Given the description of an element on the screen output the (x, y) to click on. 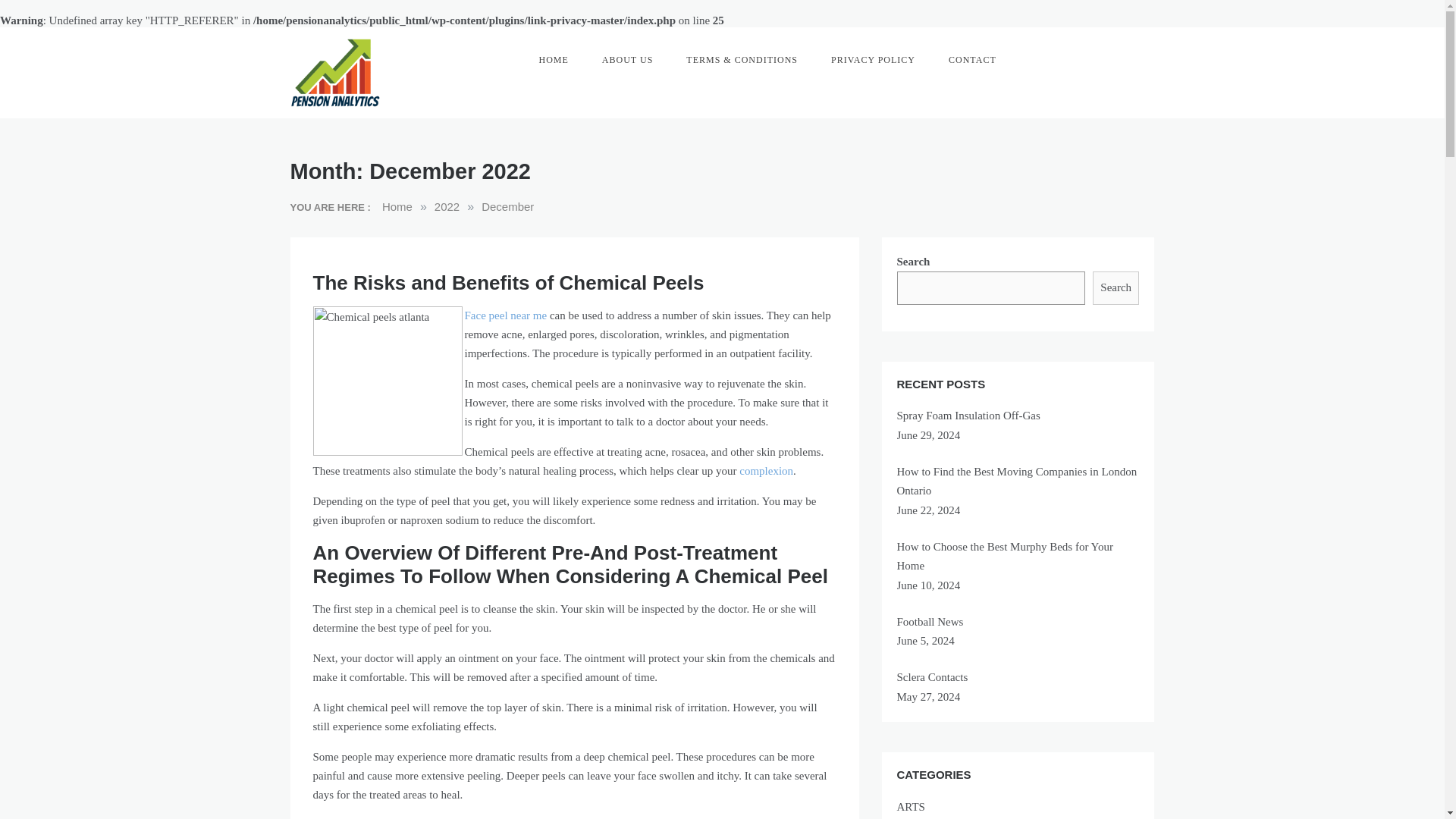
PRIVACY POLICY (872, 59)
Search (1116, 287)
How to Find the Best Moving Companies in London Ontario (1016, 481)
2022 (446, 205)
The Risks and Benefits of Chemical Peels (508, 282)
Football News (929, 621)
Pension Analytics (338, 131)
Face peel near me (505, 315)
ABOUT US (627, 59)
CONTACT (972, 59)
Sclera Contacts (932, 676)
ARTS (1017, 807)
Home (396, 205)
How to Choose the Best Murphy Beds for Your Home (1004, 556)
